Given the description of an element on the screen output the (x, y) to click on. 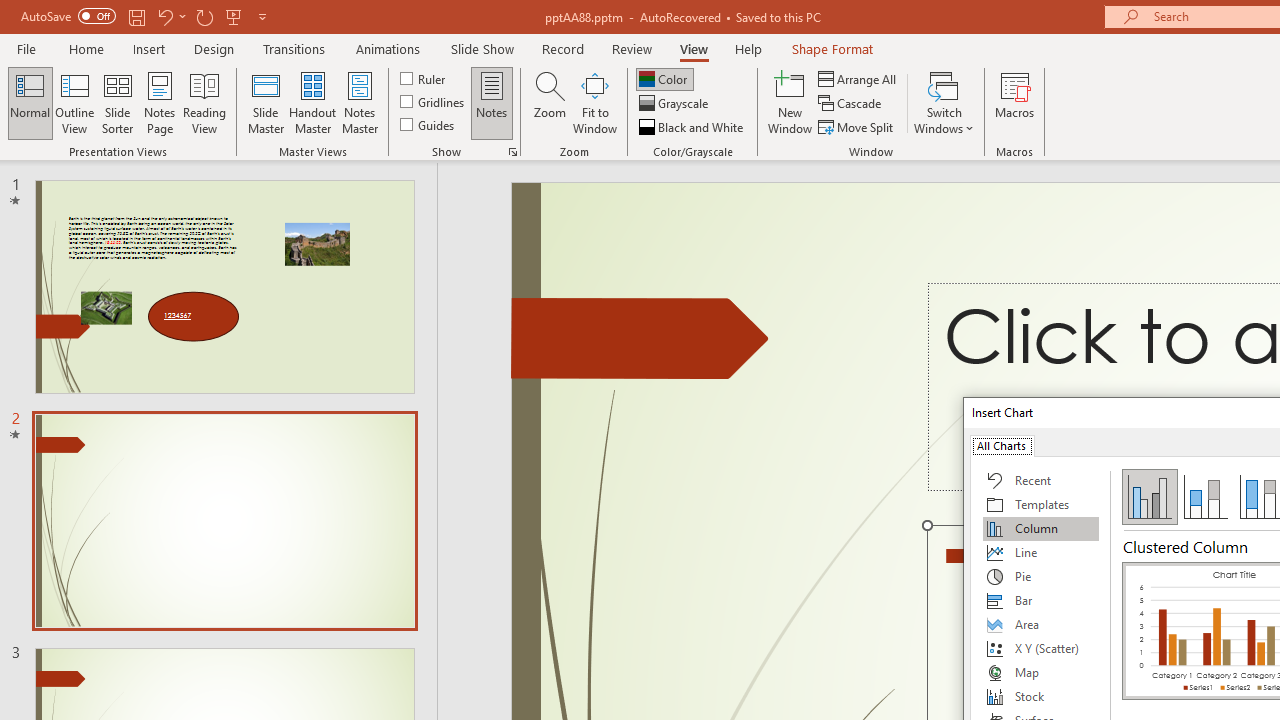
Templates (1041, 504)
Fit to Window (594, 102)
